Given the description of an element on the screen output the (x, y) to click on. 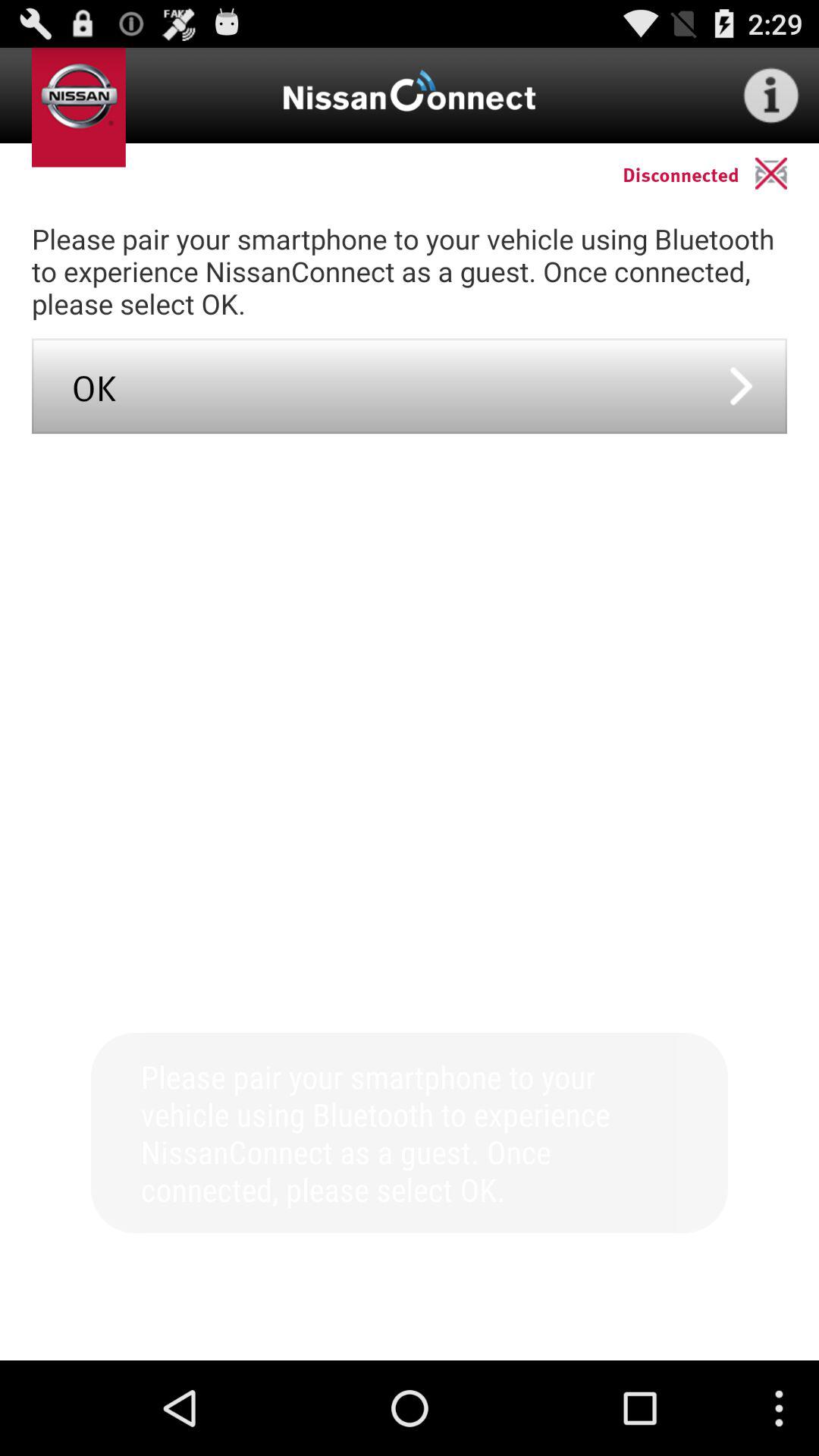
info (771, 95)
